Given the description of an element on the screen output the (x, y) to click on. 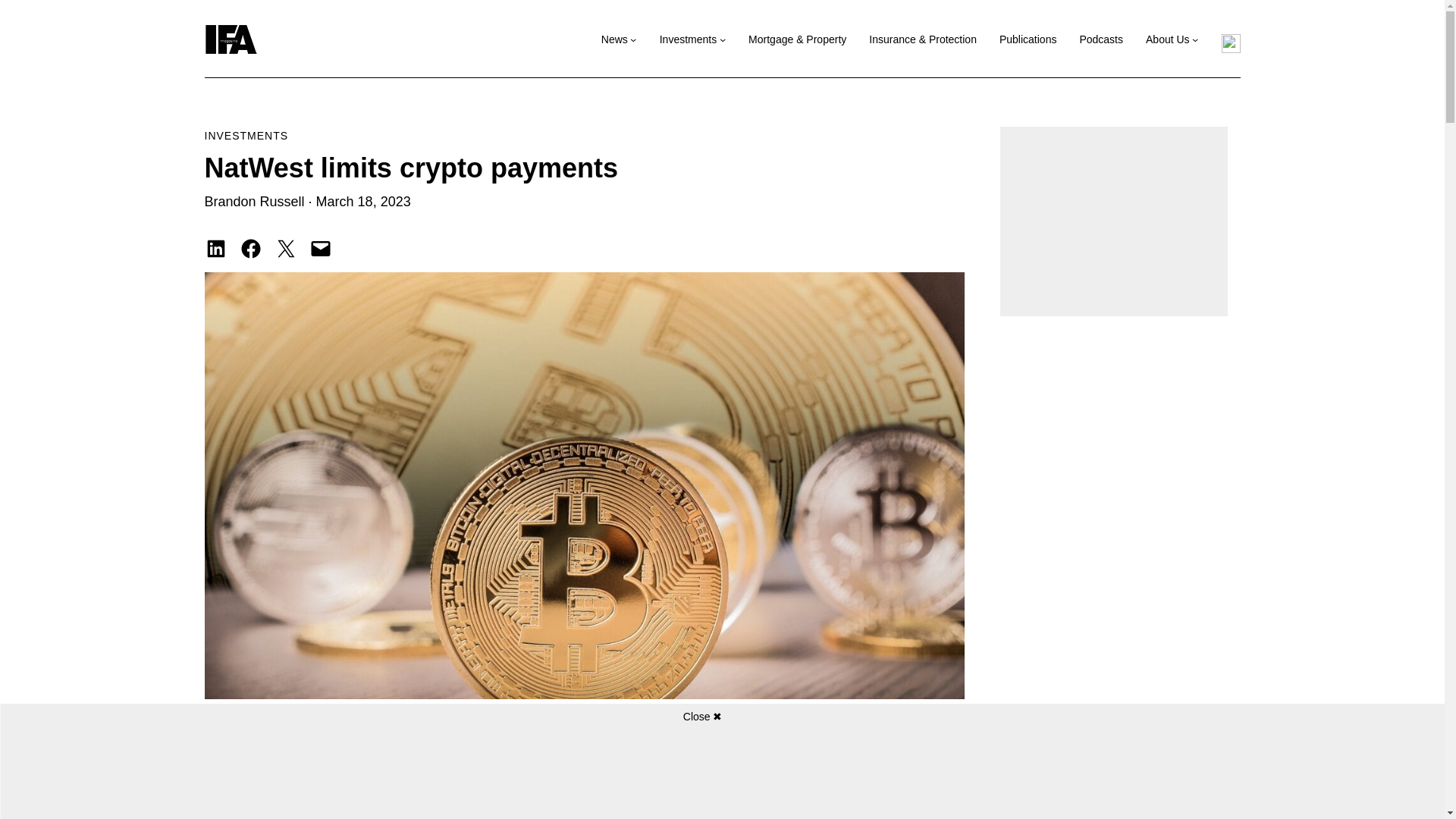
Brandon Russell (254, 201)
Email this Page (319, 248)
About Us (1167, 39)
Investments (687, 39)
Podcasts (1100, 39)
News (614, 39)
Publications (1027, 39)
Share on LinkedIn (216, 248)
INVESTMENTS (246, 135)
Share on Facebook (251, 248)
